Given the description of an element on the screen output the (x, y) to click on. 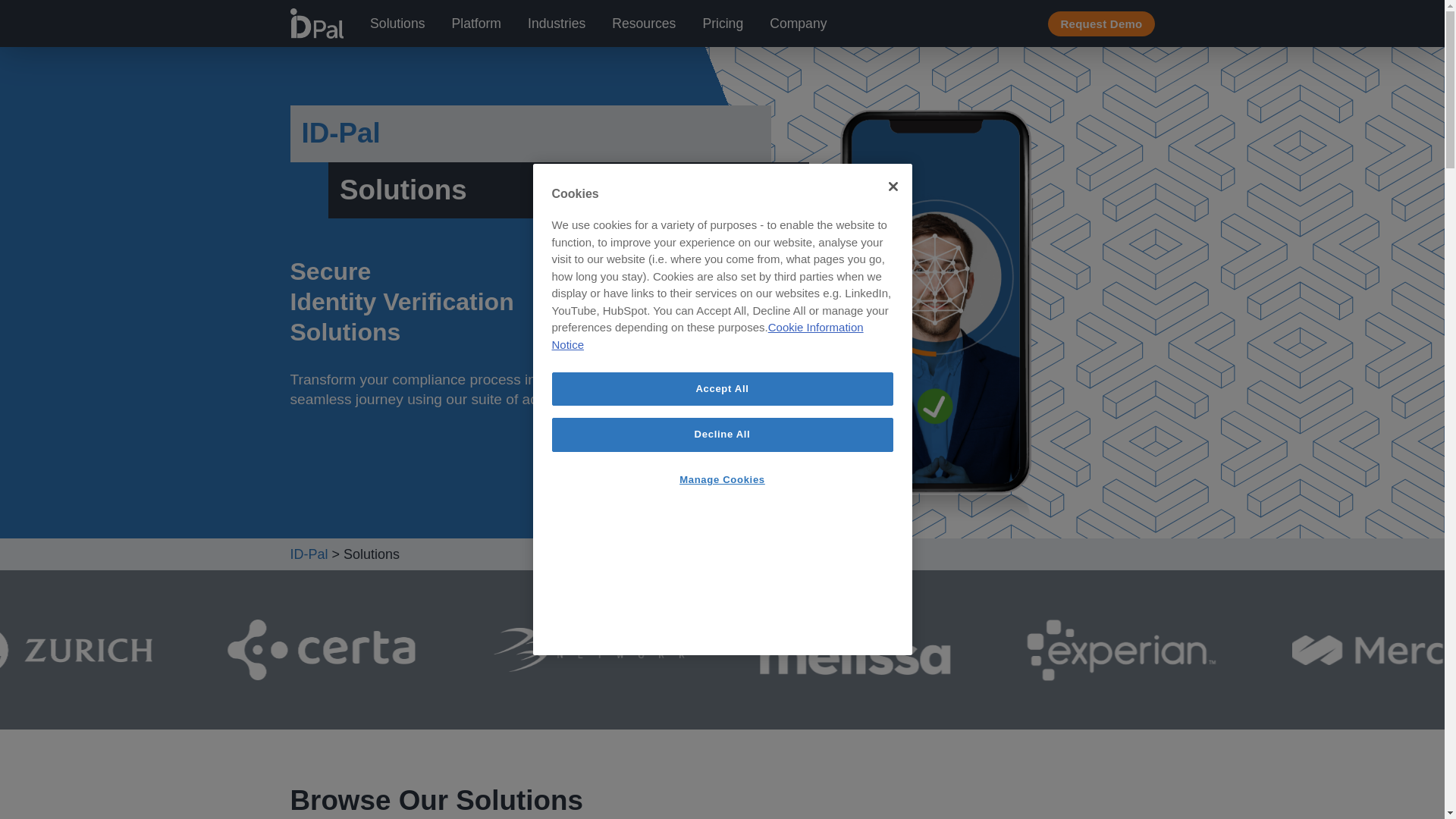
Pricing (721, 23)
Platform (476, 23)
ID-Pal logo white (316, 23)
Solutions (397, 23)
Company (798, 23)
Resources (643, 23)
Industries (556, 23)
